Given the description of an element on the screen output the (x, y) to click on. 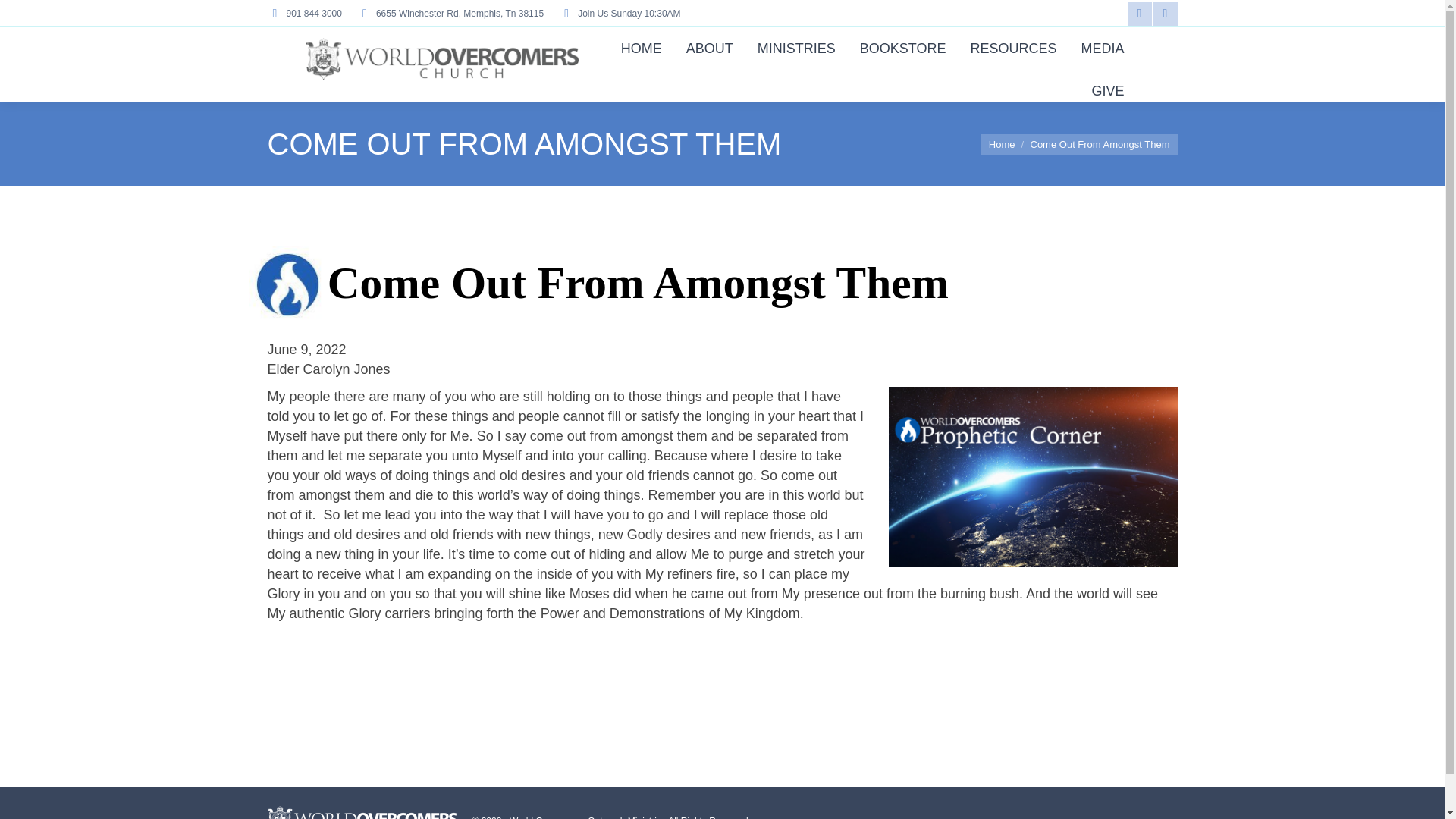
Facebook page opens in new window (1138, 13)
BOOKSTORE (902, 47)
Home (1001, 143)
X page opens in new window (1164, 13)
X page opens in new window (1164, 13)
MINISTRIES (796, 47)
Facebook page opens in new window (1138, 13)
prophetic-icon (287, 287)
RESOURCES (1012, 47)
HOME (641, 47)
